Given the description of an element on the screen output the (x, y) to click on. 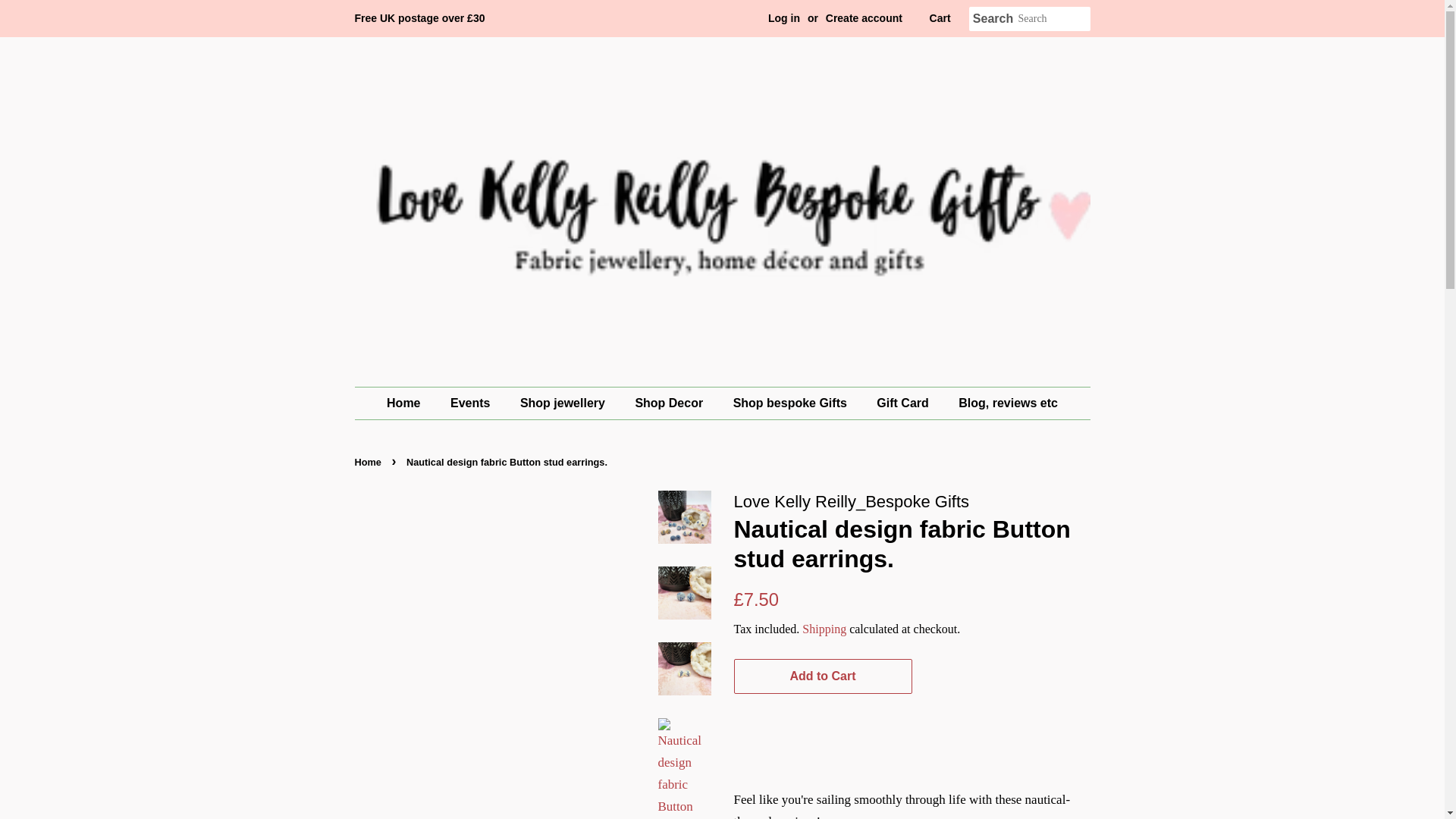
Cart (940, 18)
Create account (863, 18)
Back to the frontpage (370, 461)
Search (993, 18)
Log in (783, 18)
